Given the description of an element on the screen output the (x, y) to click on. 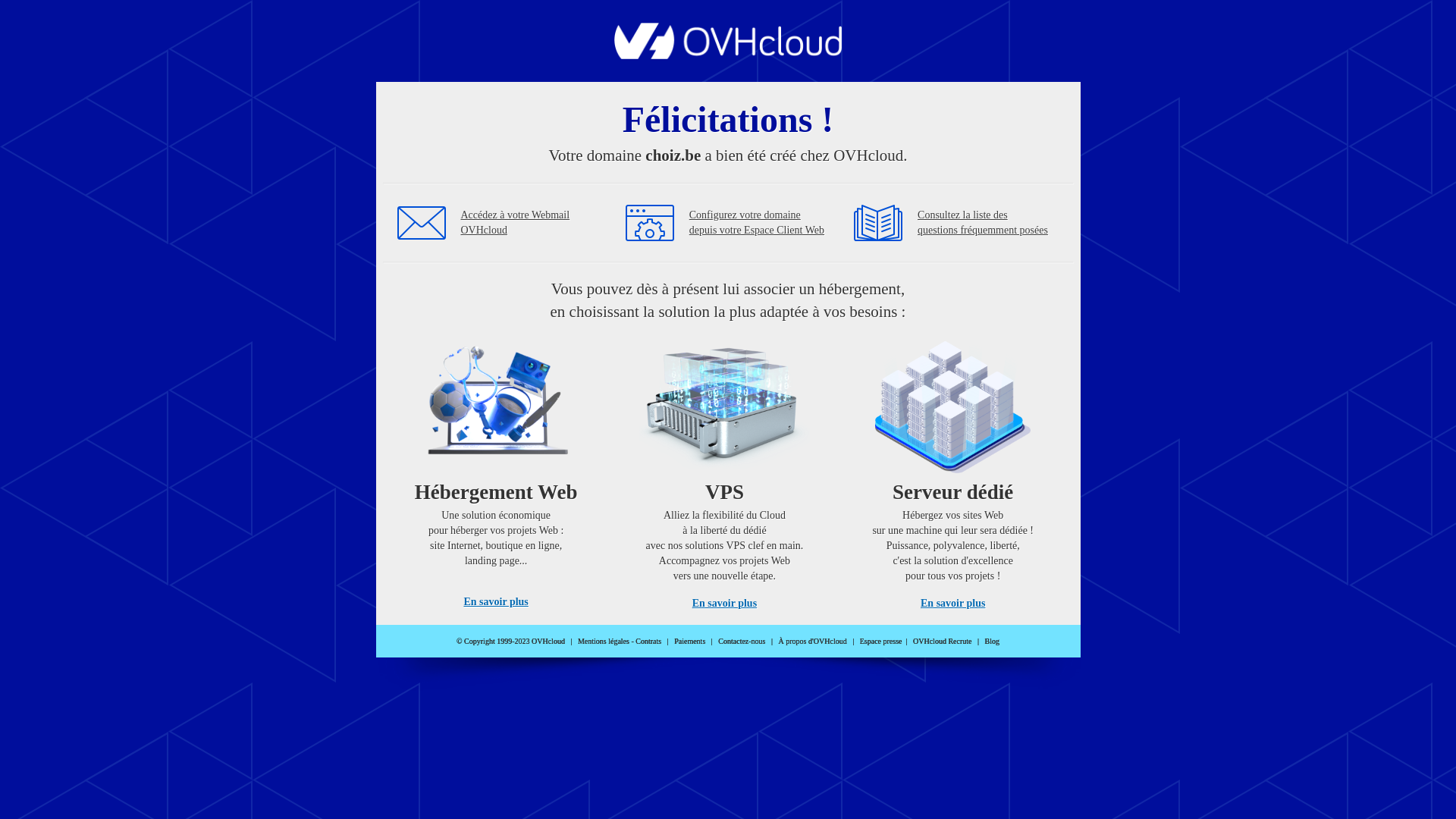
En savoir plus Element type: text (952, 602)
En savoir plus Element type: text (724, 602)
VPS Element type: hover (724, 469)
Configurez votre domaine
depuis votre Espace Client Web Element type: text (756, 222)
OVHcloud Element type: hover (727, 54)
Espace presse Element type: text (880, 641)
Contactez-nous Element type: text (741, 641)
Paiements Element type: text (689, 641)
OVHcloud Recrute Element type: text (942, 641)
Blog Element type: text (992, 641)
En savoir plus Element type: text (495, 601)
